Given the description of an element on the screen output the (x, y) to click on. 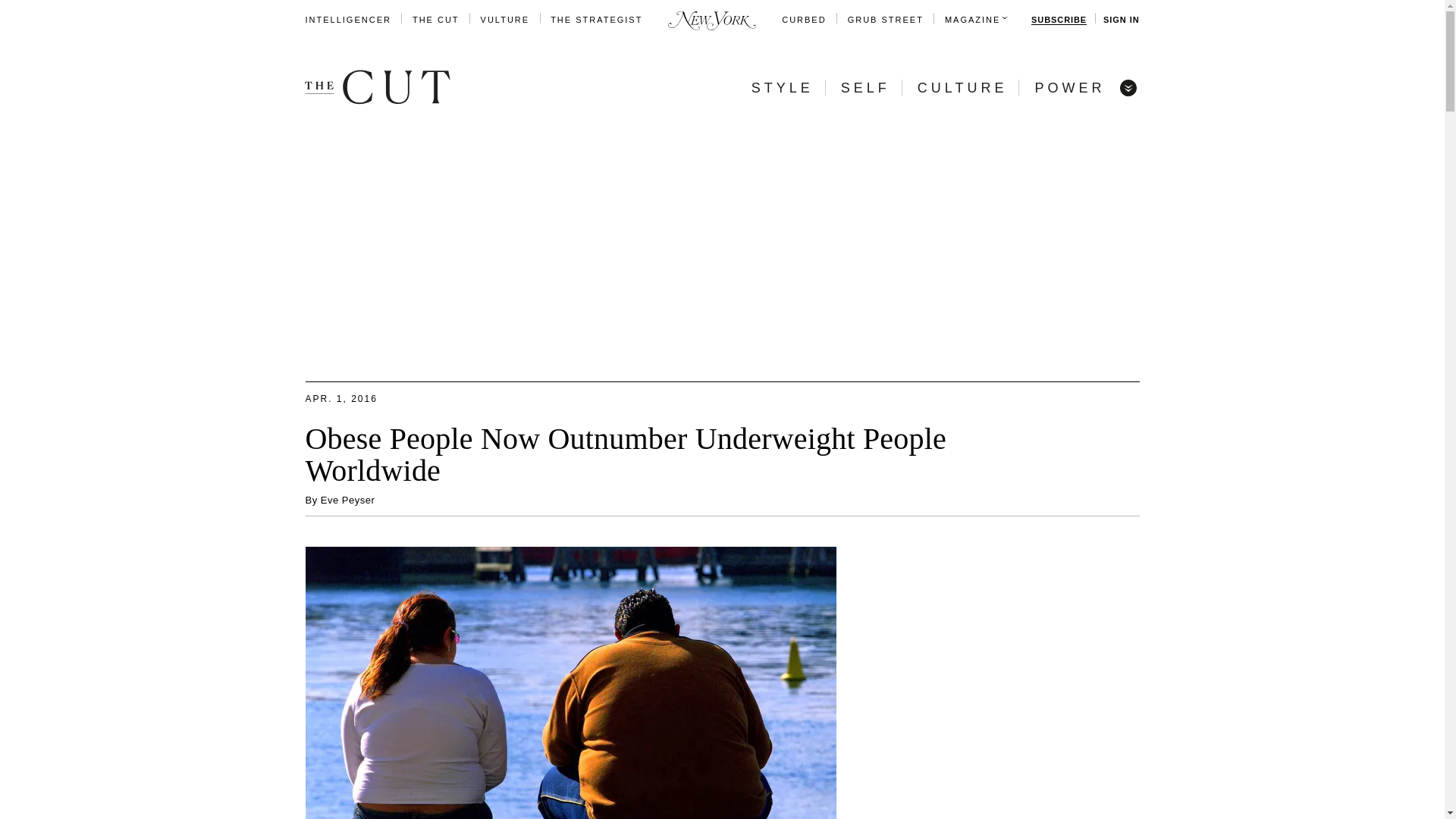
INTELLIGENCER (347, 19)
THE STRATEGIST (596, 19)
VULTURE (504, 19)
Menu (1127, 87)
CULTURE (962, 87)
SUBSCRIBE (1058, 19)
SELF (865, 87)
STYLE (782, 87)
GRUB STREET (885, 19)
SIGN IN (1120, 19)
CURBED (803, 19)
THE CUT (436, 19)
MAGAZINE (972, 19)
POWER (1069, 87)
